Given the description of an element on the screen output the (x, y) to click on. 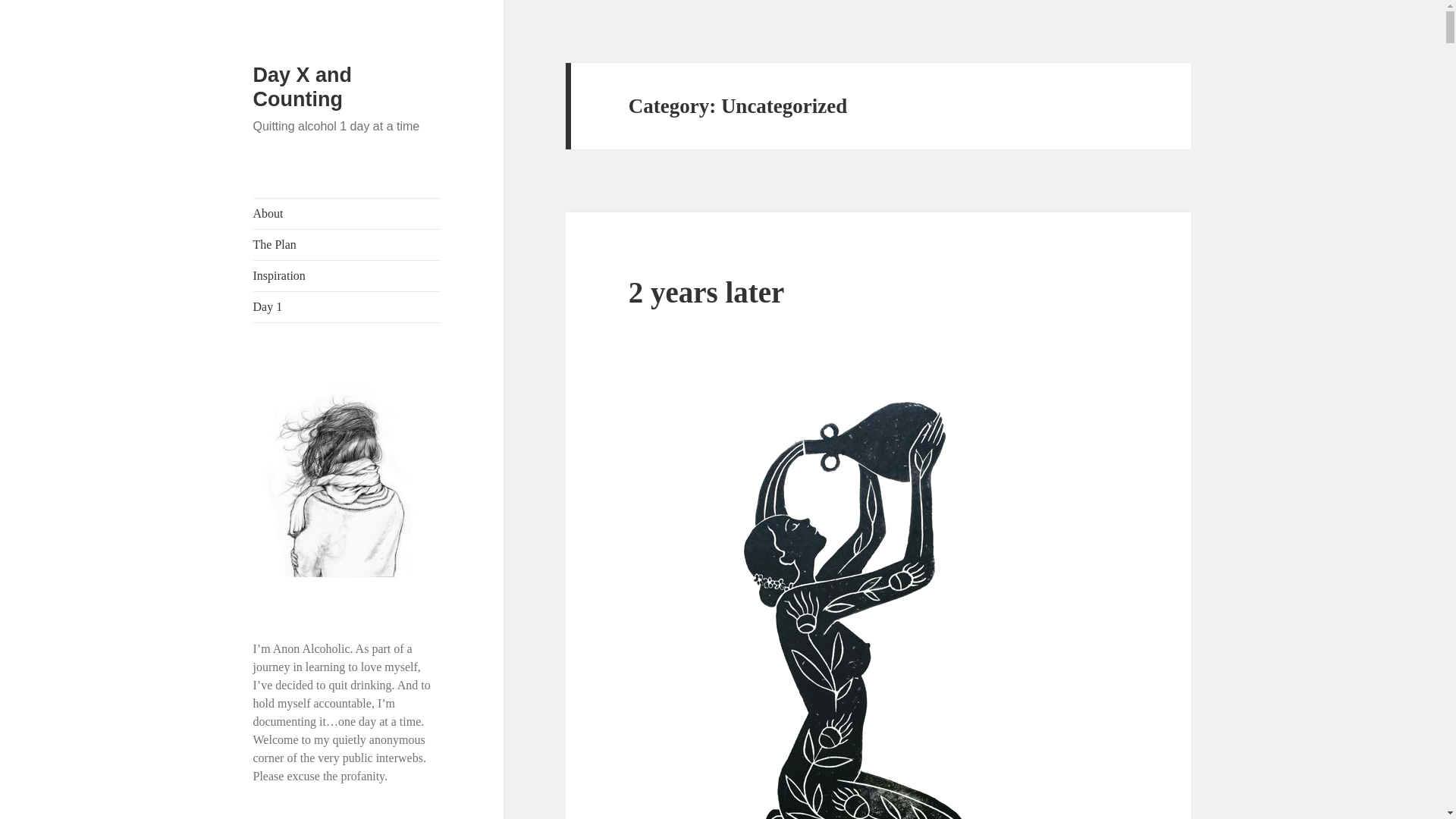
2 years later (706, 292)
About (347, 214)
Day 1 (347, 306)
Inspiration (347, 276)
The Plan (347, 245)
Day X and Counting (302, 86)
